Given the description of an element on the screen output the (x, y) to click on. 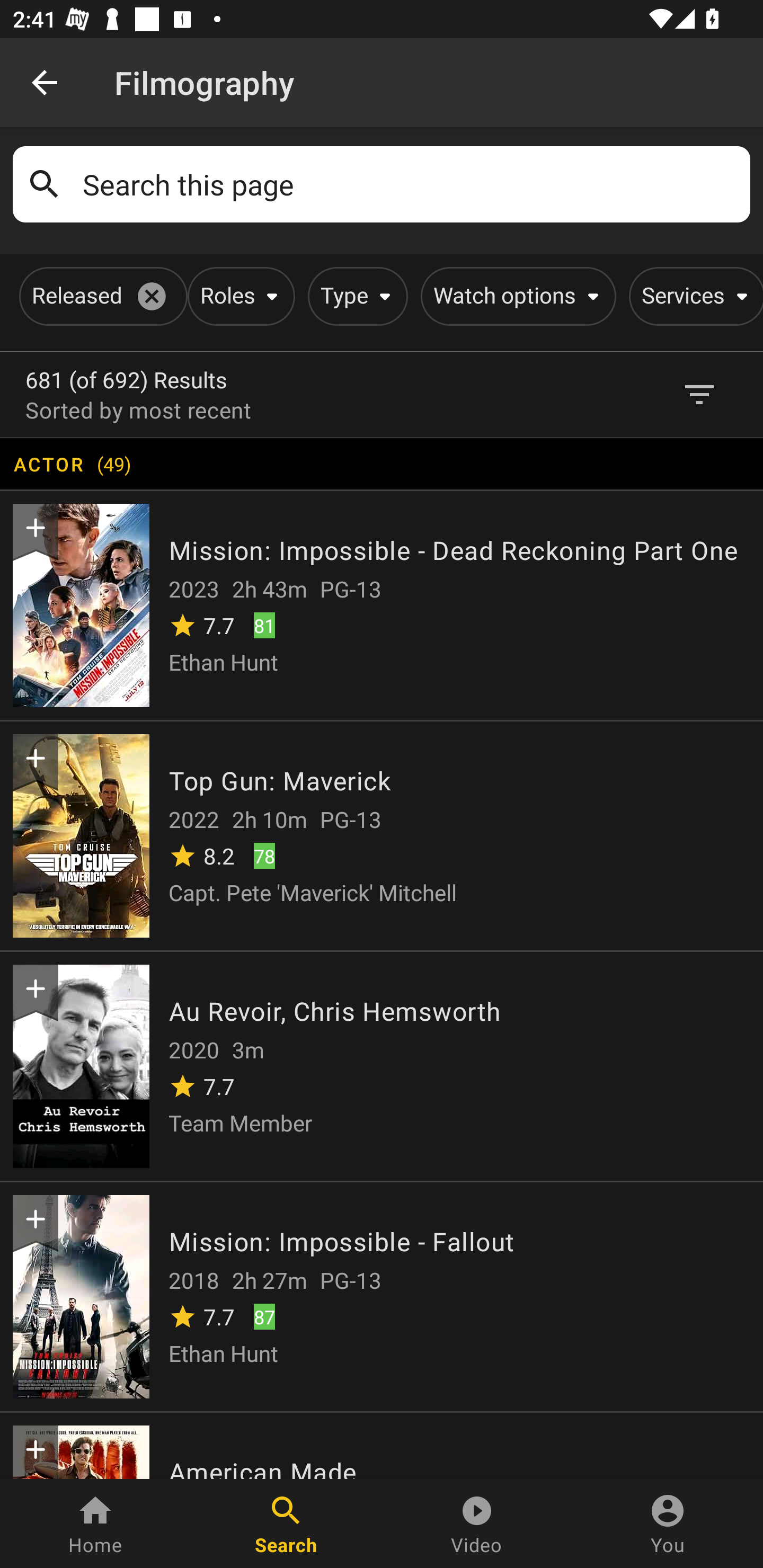
Search this page (410, 184)
Released (100, 296)
Roles (237, 296)
Type (354, 296)
Watch options (514, 296)
Services (693, 296)
Au Revoir, Chris Hemsworth 2020 3m 7.7 Team Member (381, 1065)
Home (95, 1523)
Video (476, 1523)
You (667, 1523)
